Given the description of an element on the screen output the (x, y) to click on. 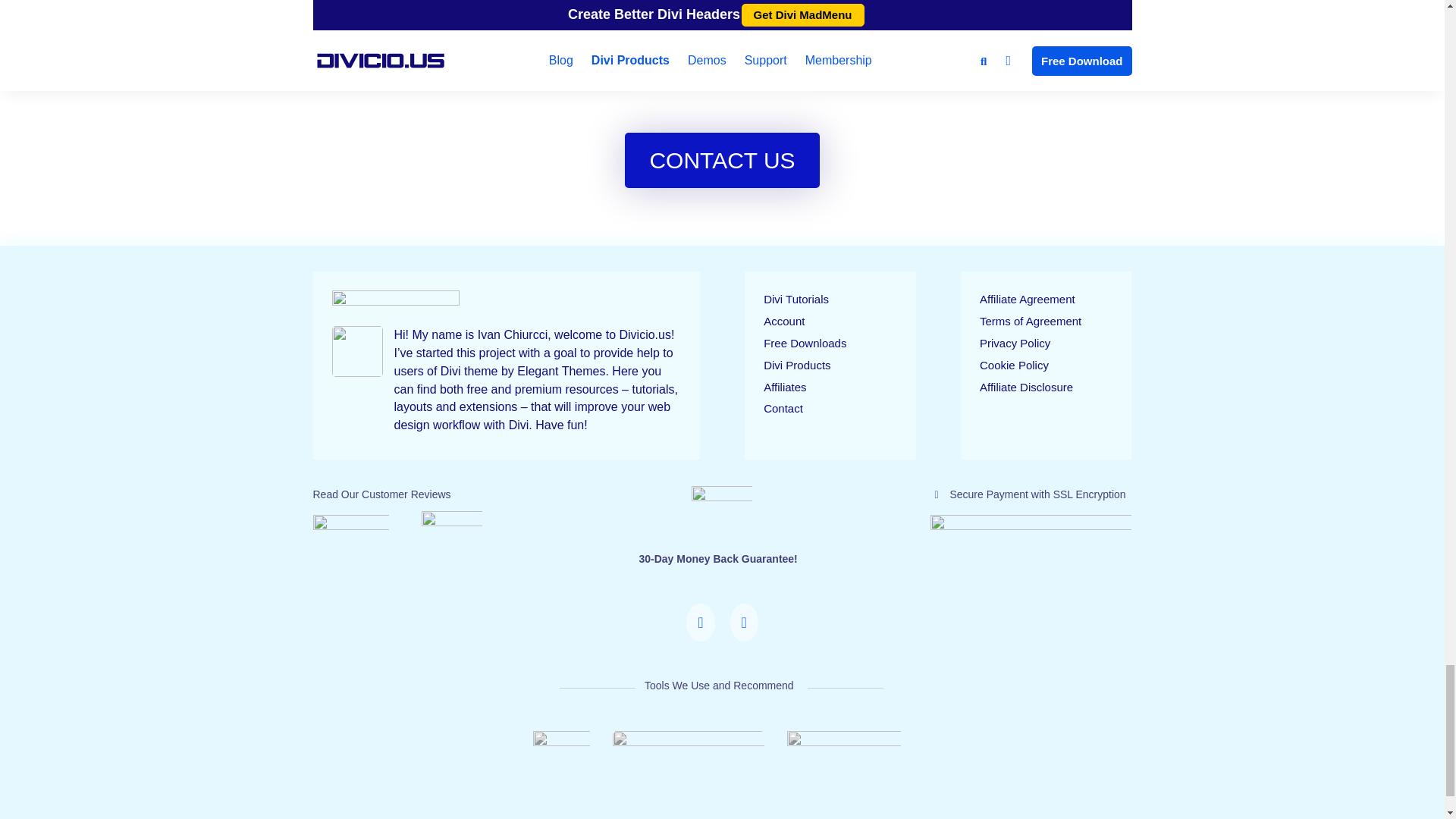
Contact Us (699, 637)
30-days-money-back-guarantee-badge (721, 516)
divi-logo-white- (560, 744)
payment-icons-450x56 (1030, 527)
logo-edd-dark-450x73 (688, 743)
elegant-themes-logo-with-stars (451, 531)
 Join Us On Facebook (743, 637)
trustpilot-logo-with-stars (350, 532)
